Given the description of an element on the screen output the (x, y) to click on. 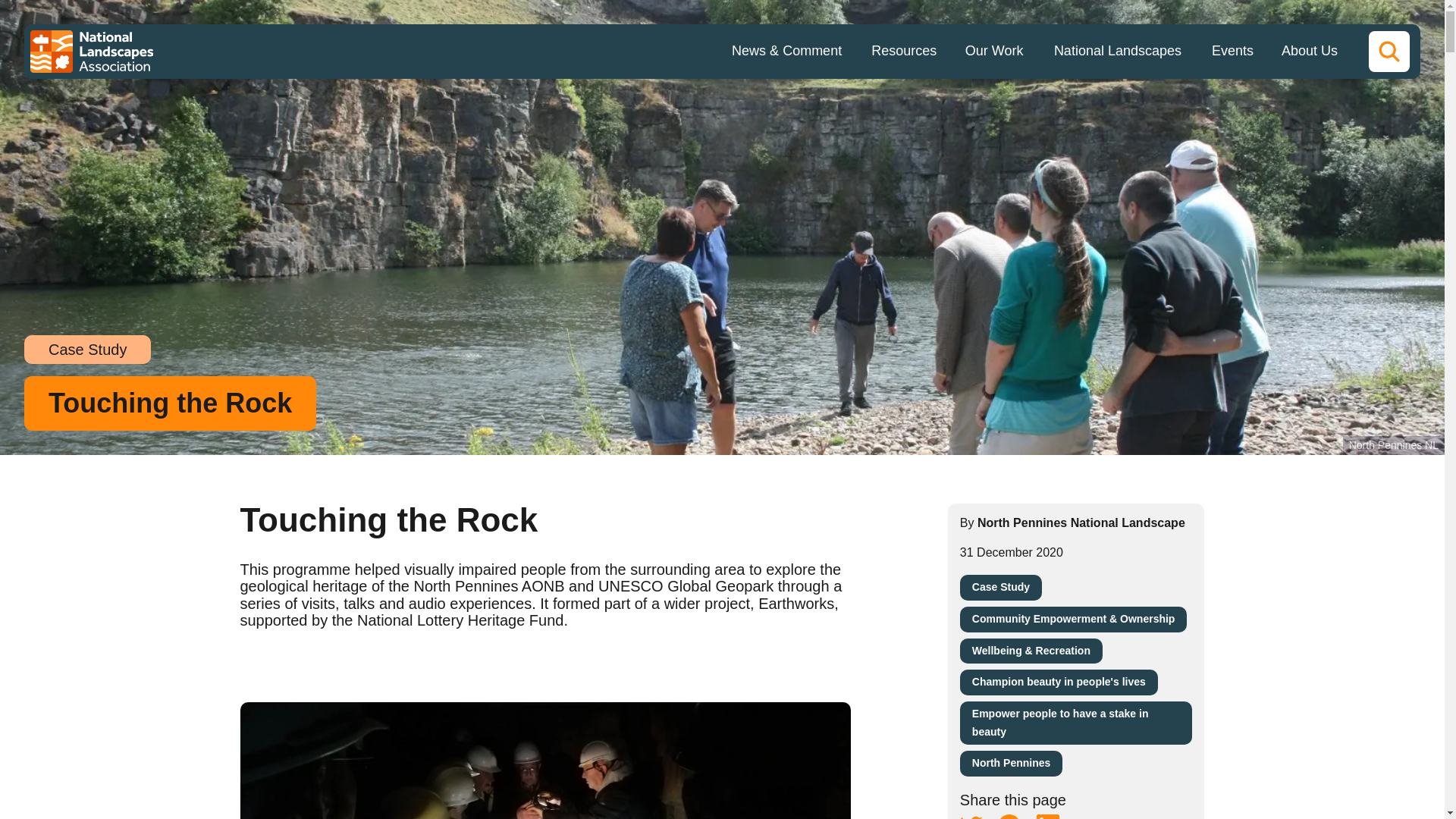
Resources (904, 51)
National Landscapes (1117, 51)
North Pennines (1010, 763)
Events (1232, 51)
Empower people to have a stake in beauty (1075, 723)
Champion beauty in people's lives (1058, 682)
Case Study (1000, 587)
Search (1388, 51)
About Us (1309, 51)
Our Work (993, 51)
